Given the description of an element on the screen output the (x, y) to click on. 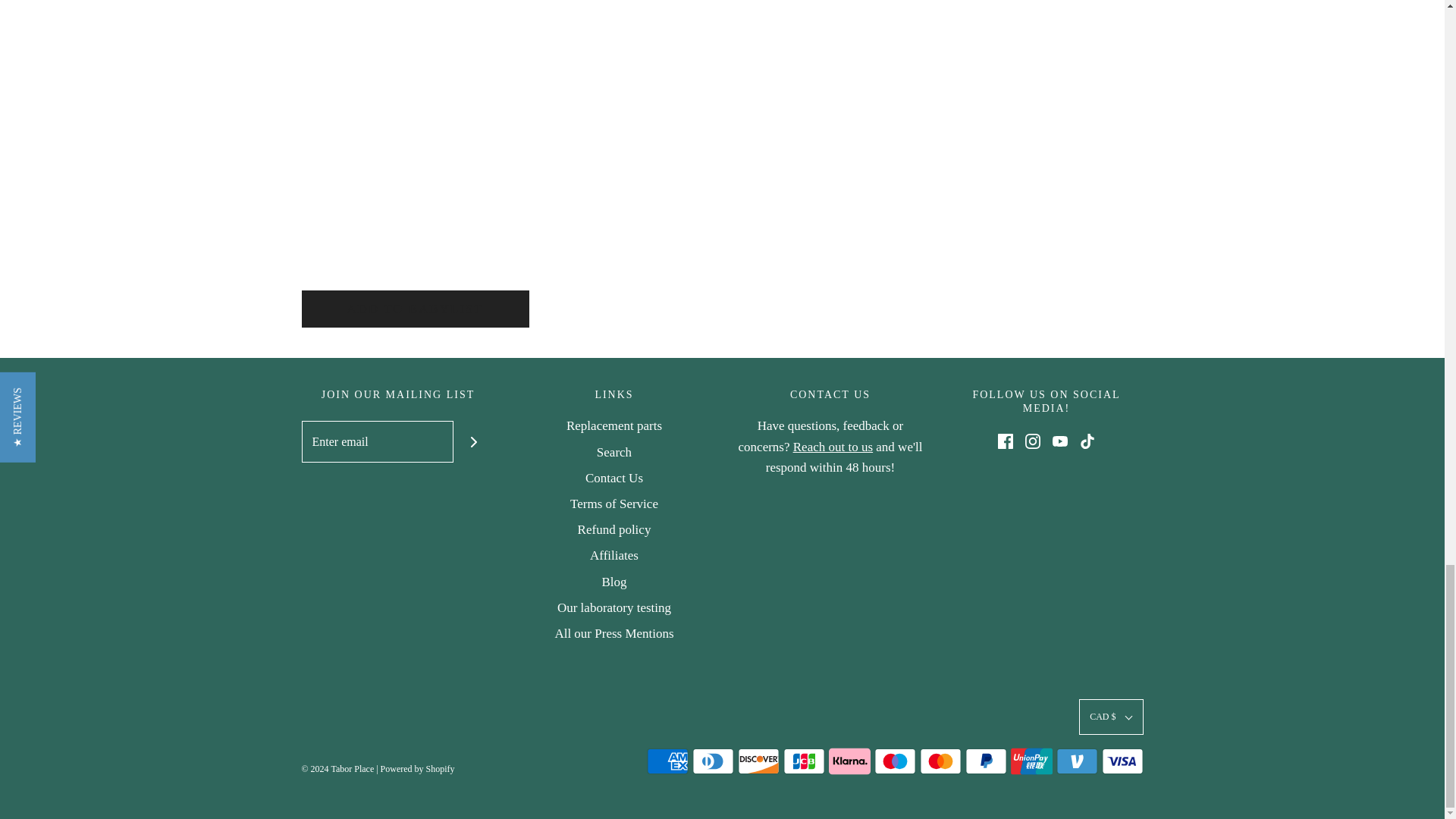
Instagram icon (1033, 441)
TikTok icon (1087, 441)
Facebook icon (1005, 441)
YouTube icon (1059, 441)
